Given the description of an element on the screen output the (x, y) to click on. 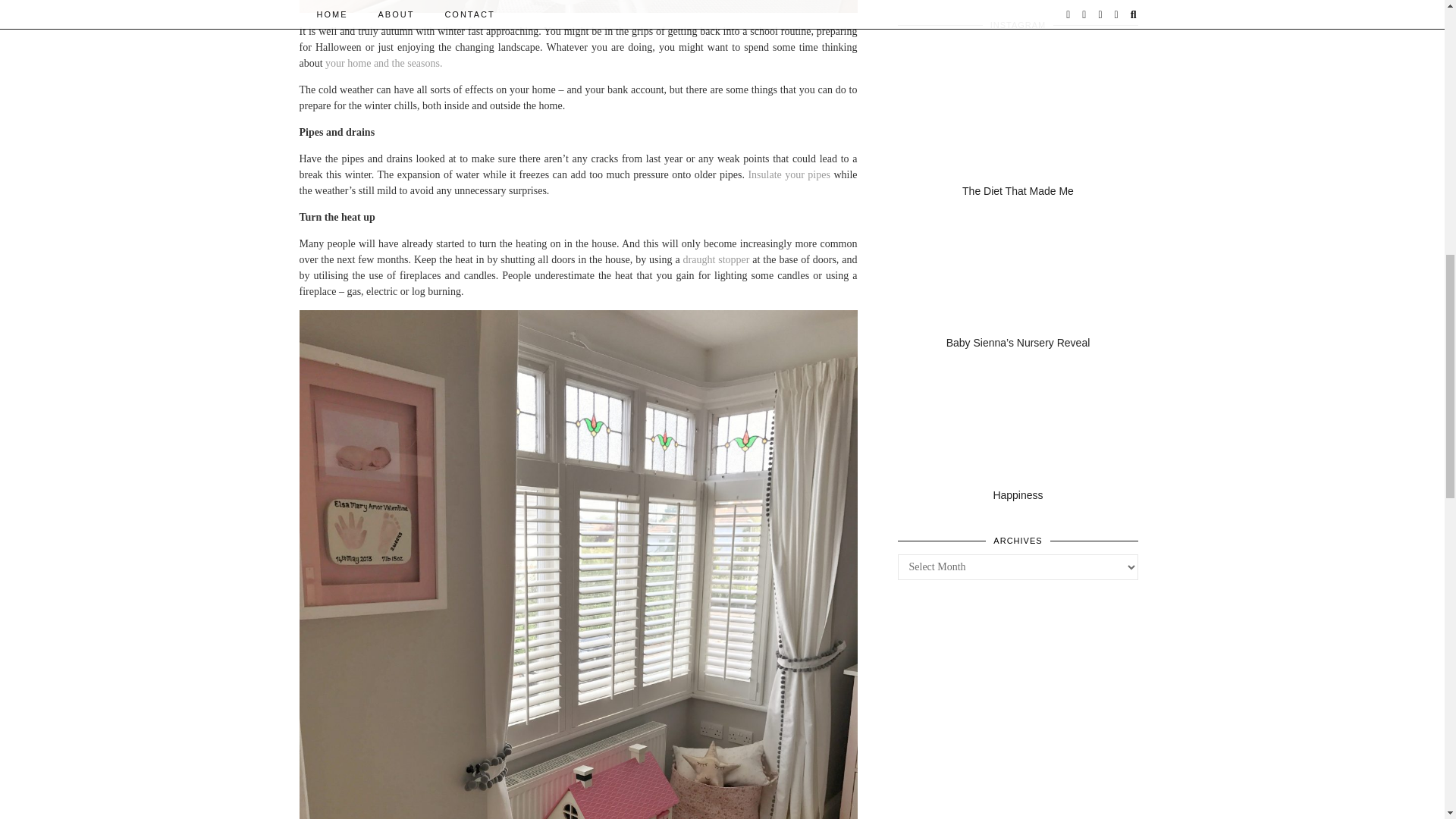
Insulate your pipes (788, 174)
your home and the seasons. (383, 62)
The Diet That Made Me (1018, 131)
draught stopper (717, 259)
